Given the description of an element on the screen output the (x, y) to click on. 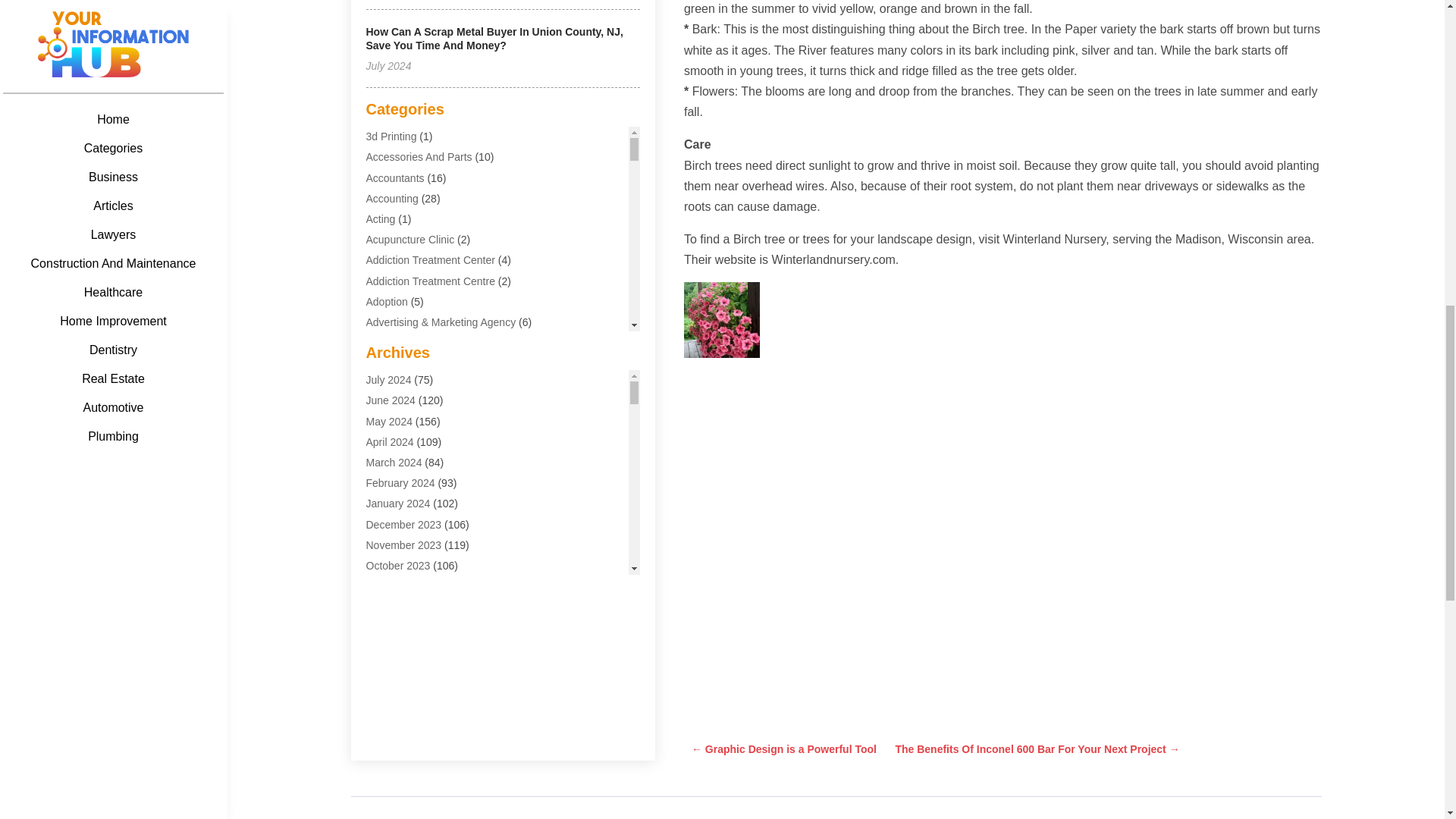
Accounting (391, 198)
Acting (379, 218)
Acupuncture Clinic (409, 239)
Accountants (394, 177)
Birch trees (722, 319)
Addiction Treatment Center (430, 259)
3d Printing (390, 136)
Accessories And Parts (418, 156)
